Given the description of an element on the screen output the (x, y) to click on. 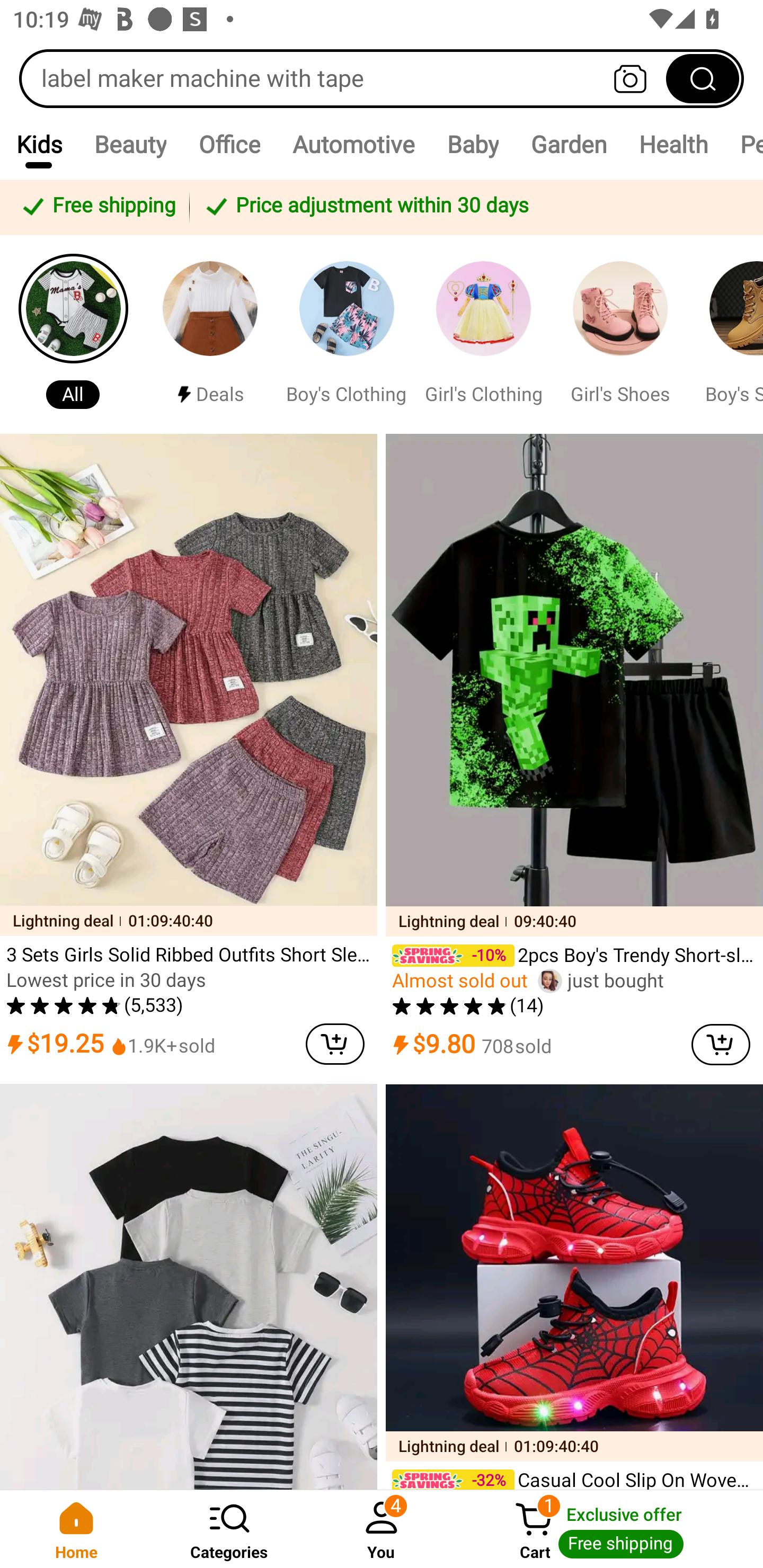
label maker machine with tape (381, 78)
Kids (38, 144)
Beauty (129, 144)
Office (229, 144)
Automotive (353, 144)
Baby (472, 144)
Garden (568, 144)
Health (673, 144)
Free shipping (97, 206)
Price adjustment within 30 days (472, 206)
All (72, 333)
￼￼Deals (209, 333)
Boy's Clothing (346, 333)
Girl's Clothing (482, 333)
Girl's Shoes (619, 333)
Boy's Shoes (729, 333)
cart delete (334, 1043)
cart delete (720, 1043)
Home (76, 1528)
Categories (228, 1528)
You 4 You (381, 1528)
Cart 1 Cart Exclusive offer (610, 1528)
